Given the description of an element on the screen output the (x, y) to click on. 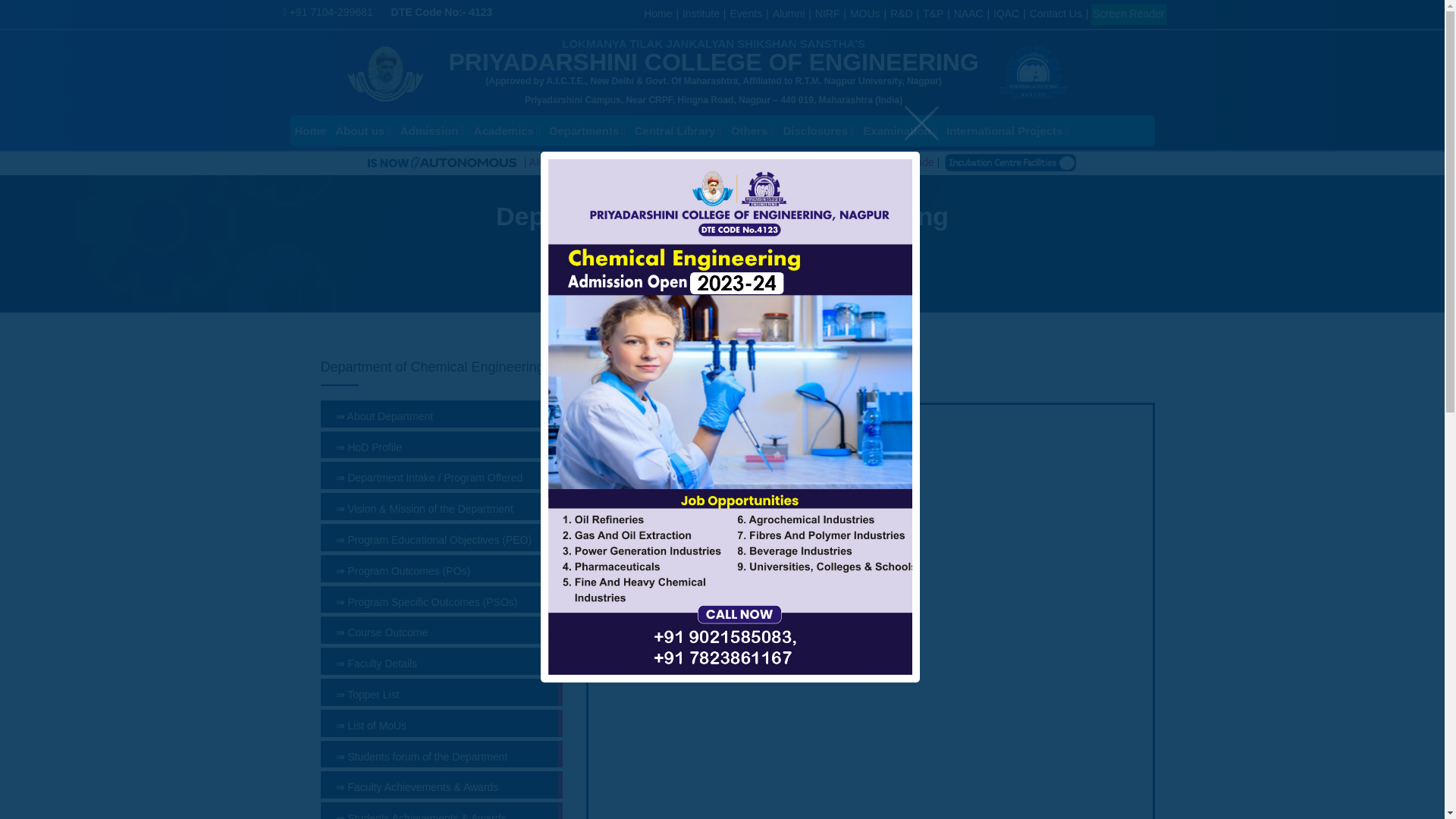
Admission (432, 130)
DTE Code No:- 4123 (442, 11)
NIRF (827, 13)
About us (362, 130)
Contact Us (1055, 13)
Home (657, 13)
Home (309, 130)
Academics (506, 130)
Alumni (789, 13)
